Given the description of an element on the screen output the (x, y) to click on. 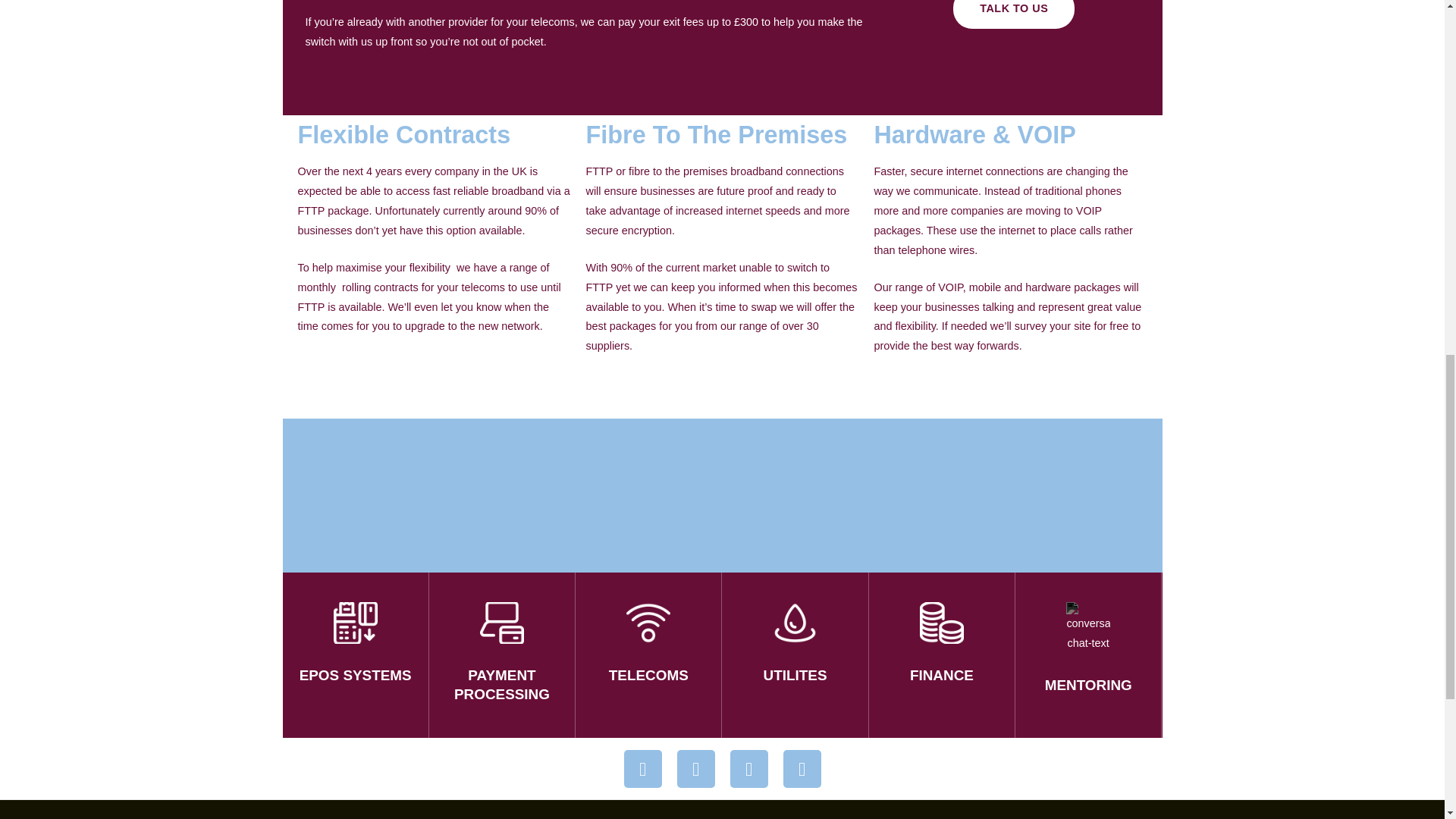
PAYMENT PROCESSING (502, 684)
EPOS SYSTEMS (355, 675)
credit-card-laptop-payment (502, 622)
water-protection-drop-1 (794, 622)
TALK TO US (1013, 14)
wifi (647, 622)
accounting-coins-stack (941, 622)
TELECOMS (648, 675)
credit-card-payment (355, 622)
